Given the description of an element on the screen output the (x, y) to click on. 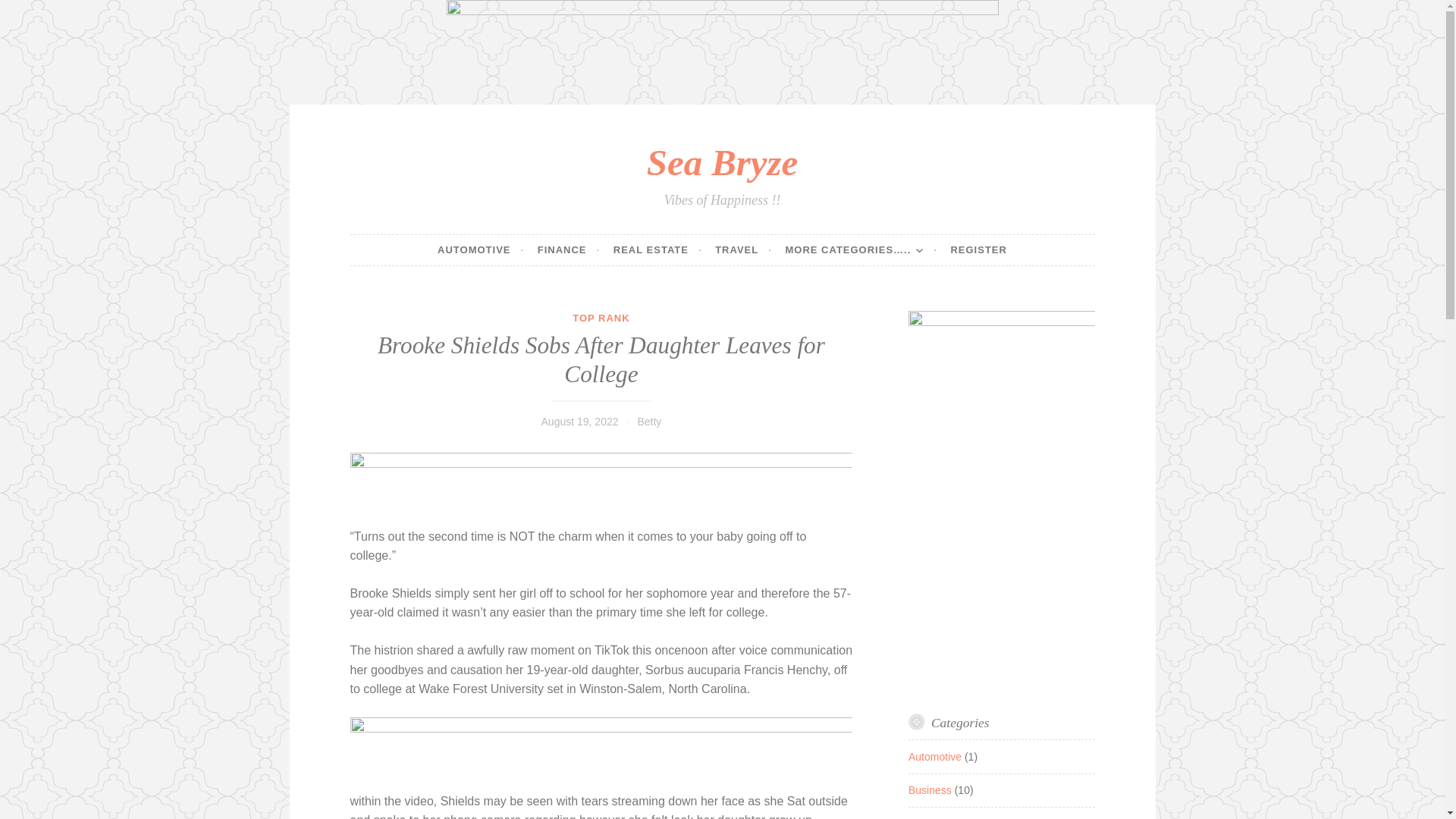
REAL ESTATE (656, 250)
TOP RANK (600, 317)
Sea Bryze (721, 162)
AUTOMOTIVE (481, 250)
August 19, 2022 (579, 421)
Betty (649, 421)
Education (931, 818)
Automotive (934, 756)
REGISTER (978, 250)
TRAVEL (742, 250)
Business (930, 789)
FINANCE (568, 250)
